Given the description of an element on the screen output the (x, y) to click on. 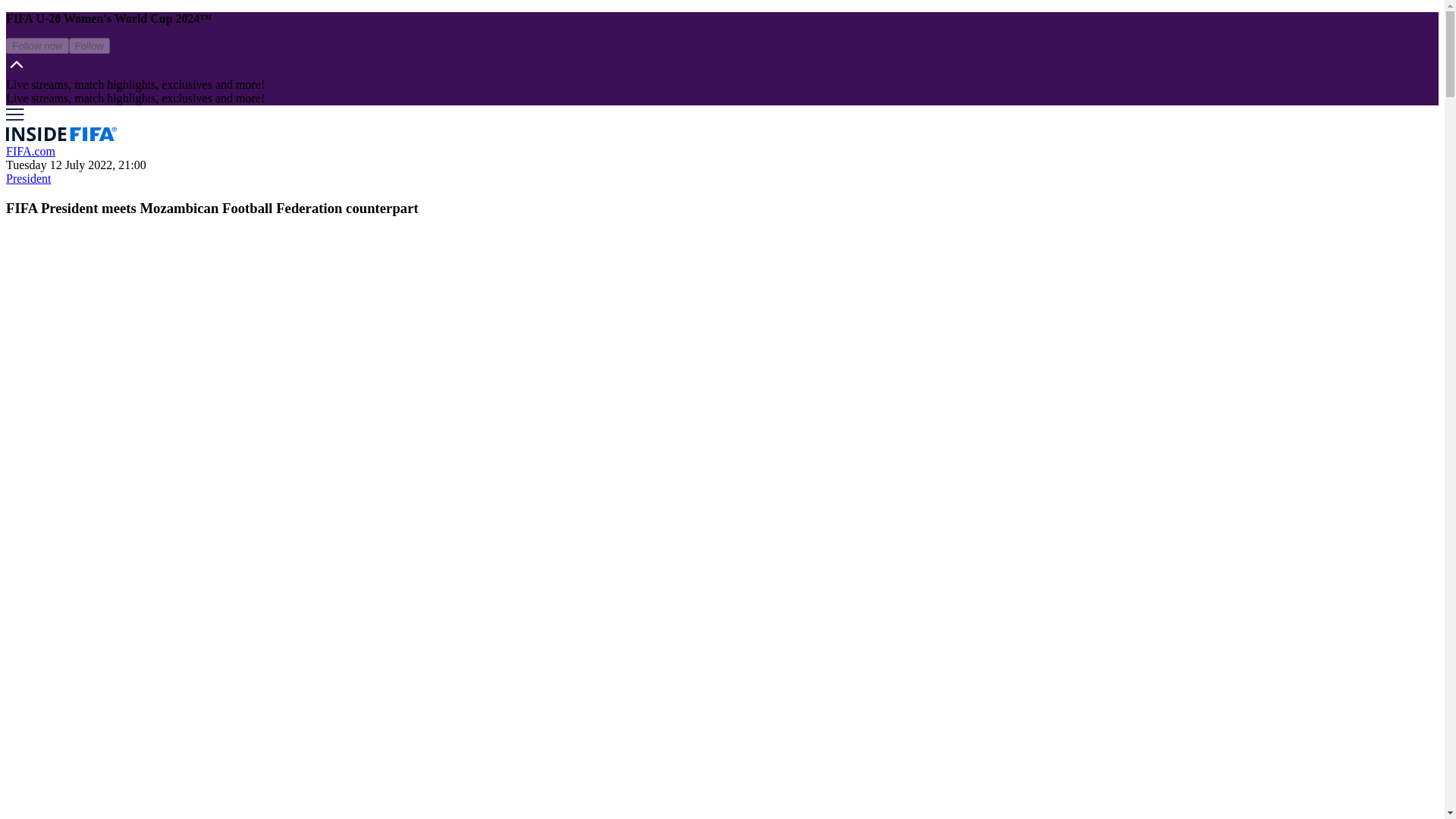
Follow now (36, 45)
Follow (89, 45)
President (27, 178)
